Given the description of an element on the screen output the (x, y) to click on. 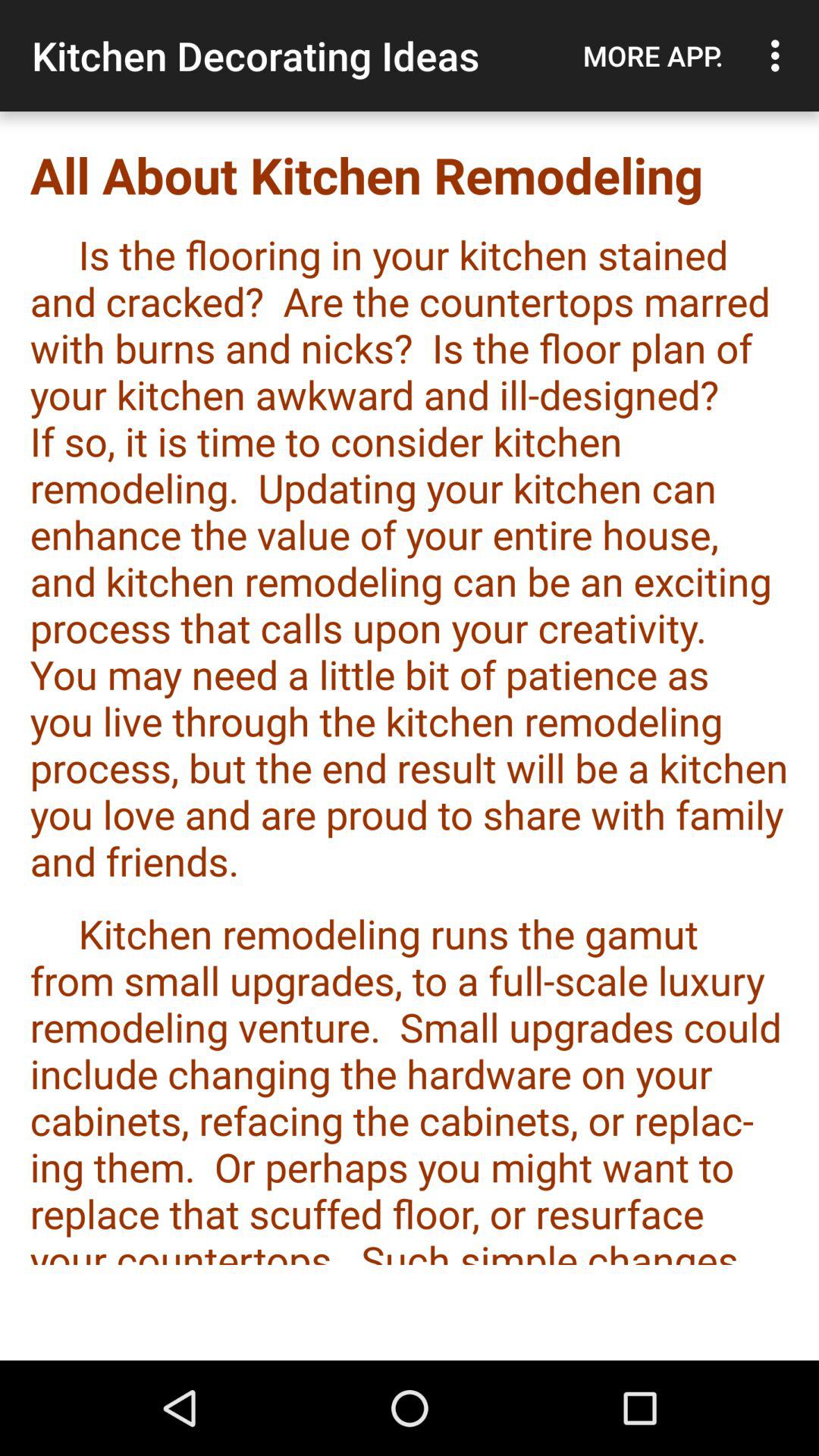
scroll until more app. item (653, 55)
